Given the description of an element on the screen output the (x, y) to click on. 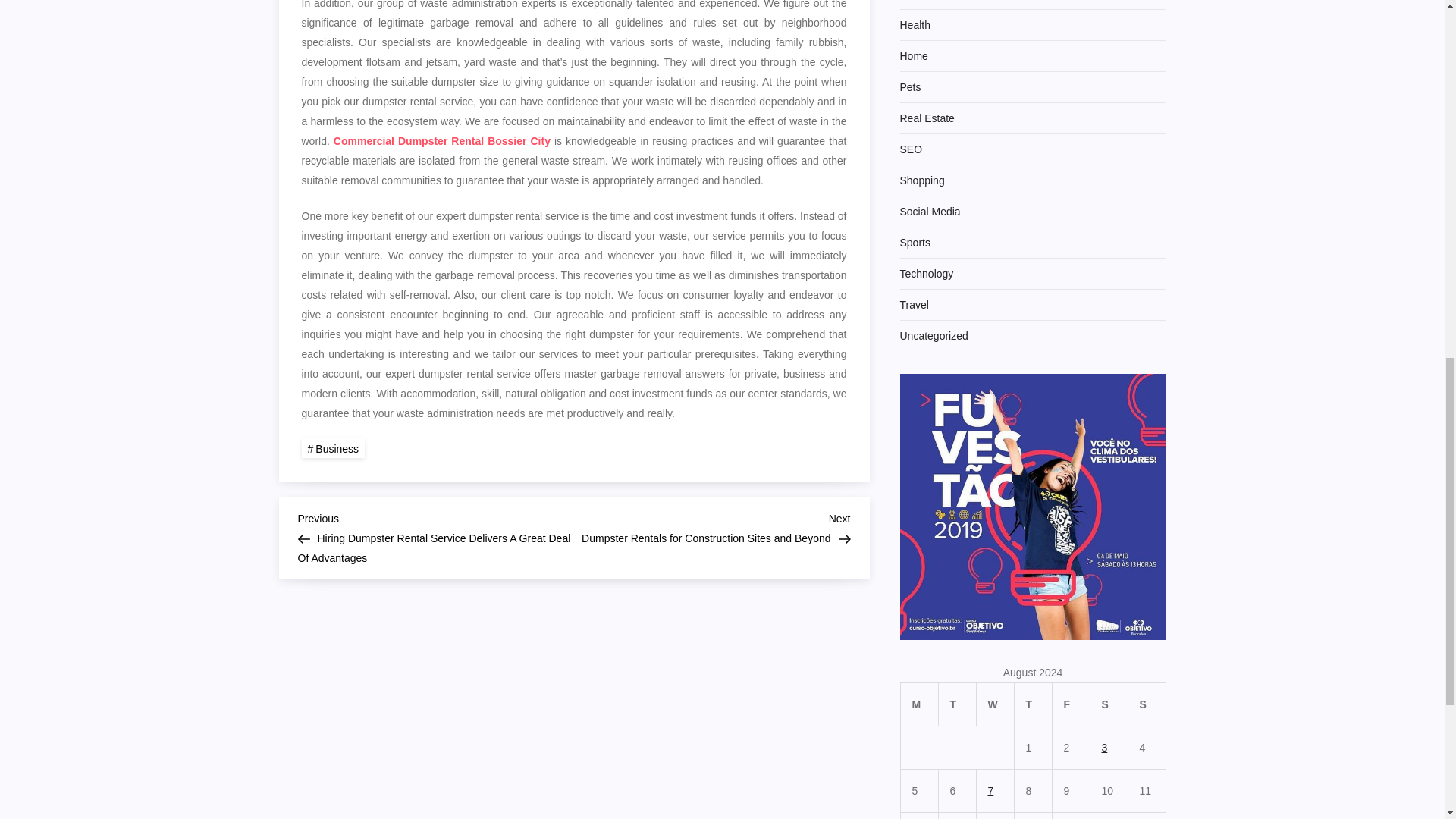
Commercial Dumpster Rental Bossier City (441, 141)
Travel (913, 304)
Business (333, 448)
Uncategorized (933, 335)
Home (913, 55)
Pets (909, 86)
Technology (926, 273)
Social Media (929, 211)
